Given the description of an element on the screen output the (x, y) to click on. 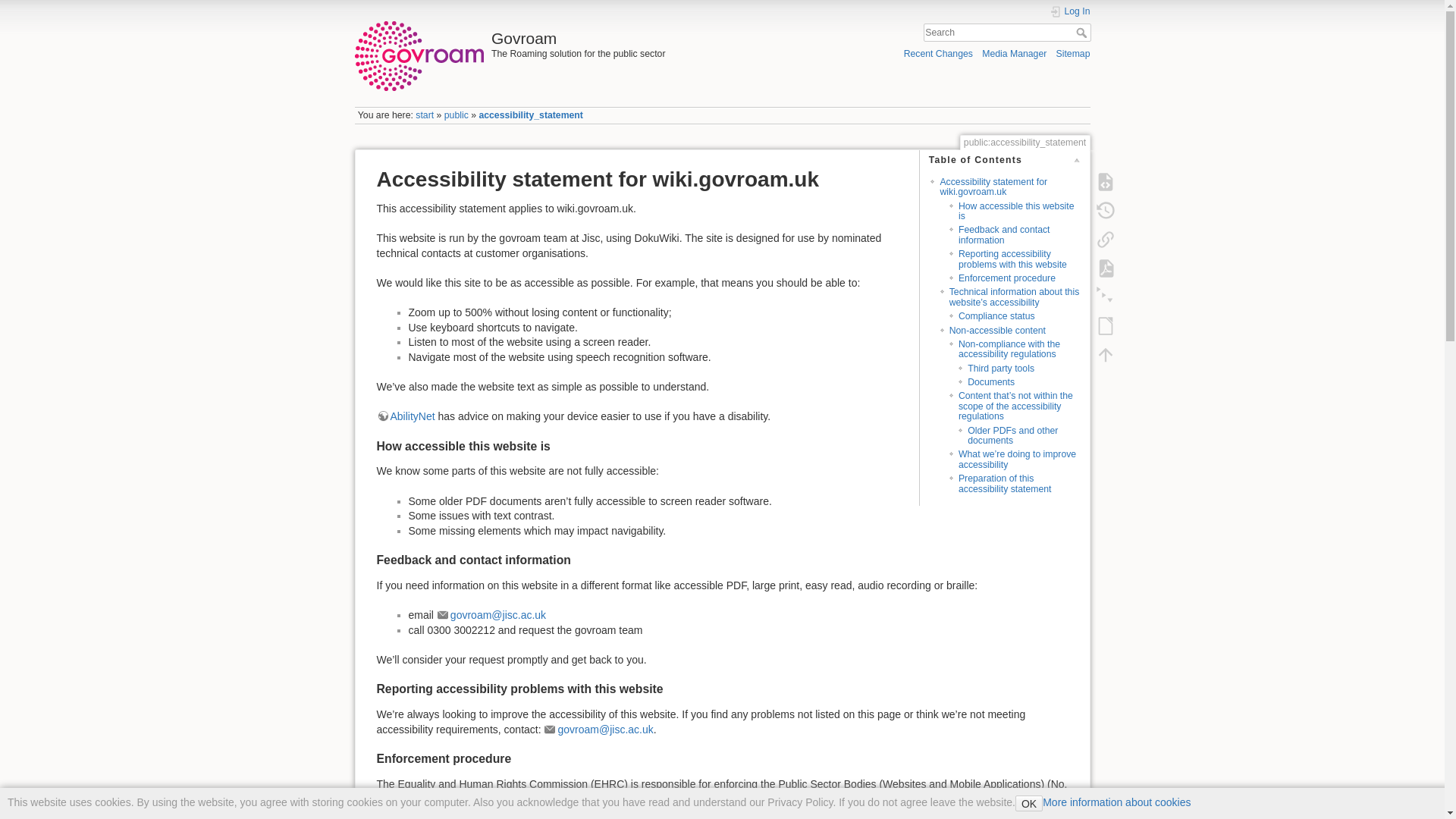
Preparation of this accessibility statement (1004, 483)
Older PDFs and other documents (1013, 435)
Search (1082, 32)
How accessible this website is (1016, 210)
Log In (1069, 11)
Non-compliance with the accessibility regulations (1008, 349)
public (456, 114)
Media Manager (1013, 53)
Accessibility statement for wiki.govroam.uk (992, 186)
Recent Changes (938, 53)
